Given the description of an element on the screen output the (x, y) to click on. 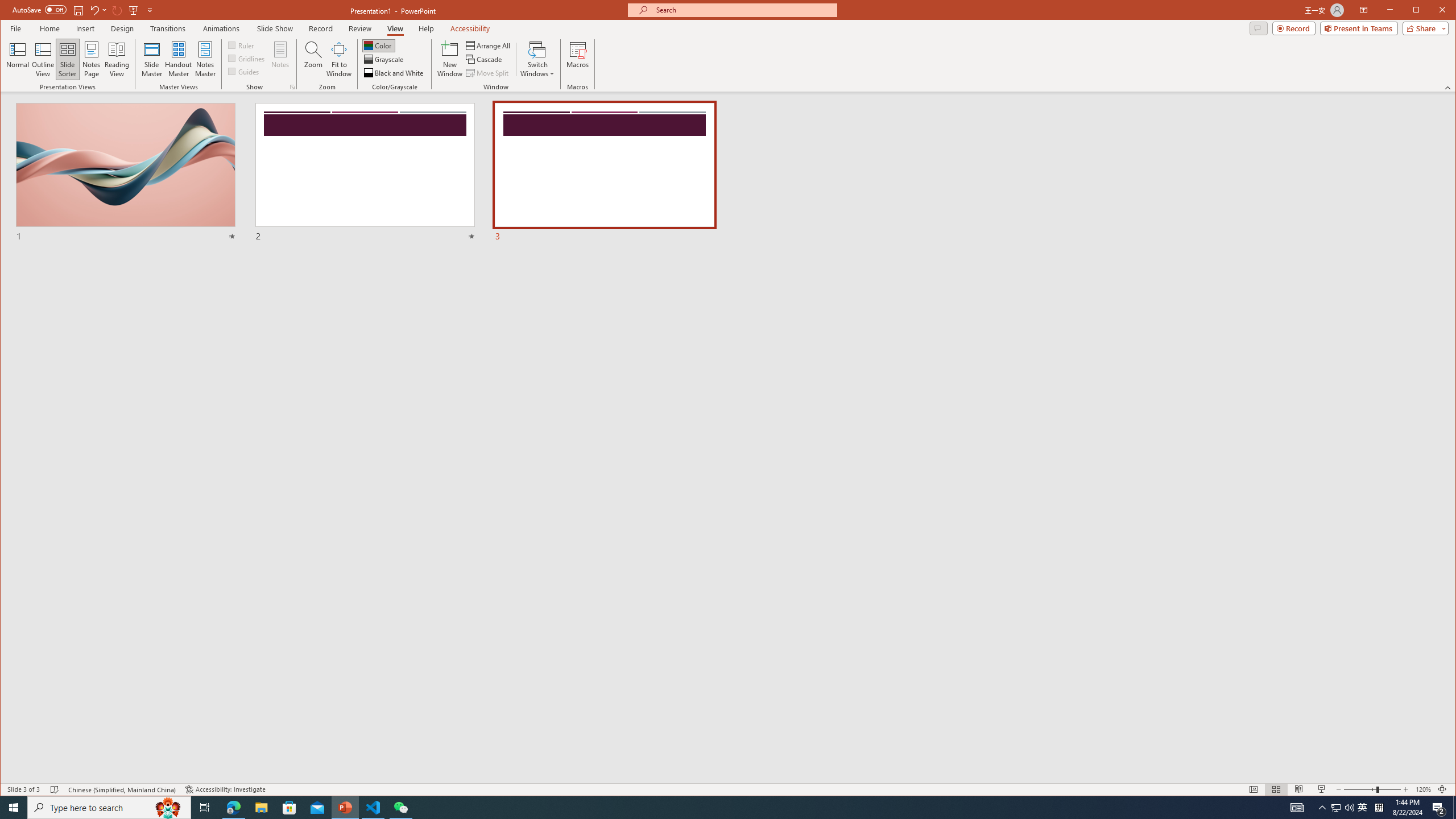
Fit to Window (338, 59)
Notes Page (91, 59)
